Given the description of an element on the screen output the (x, y) to click on. 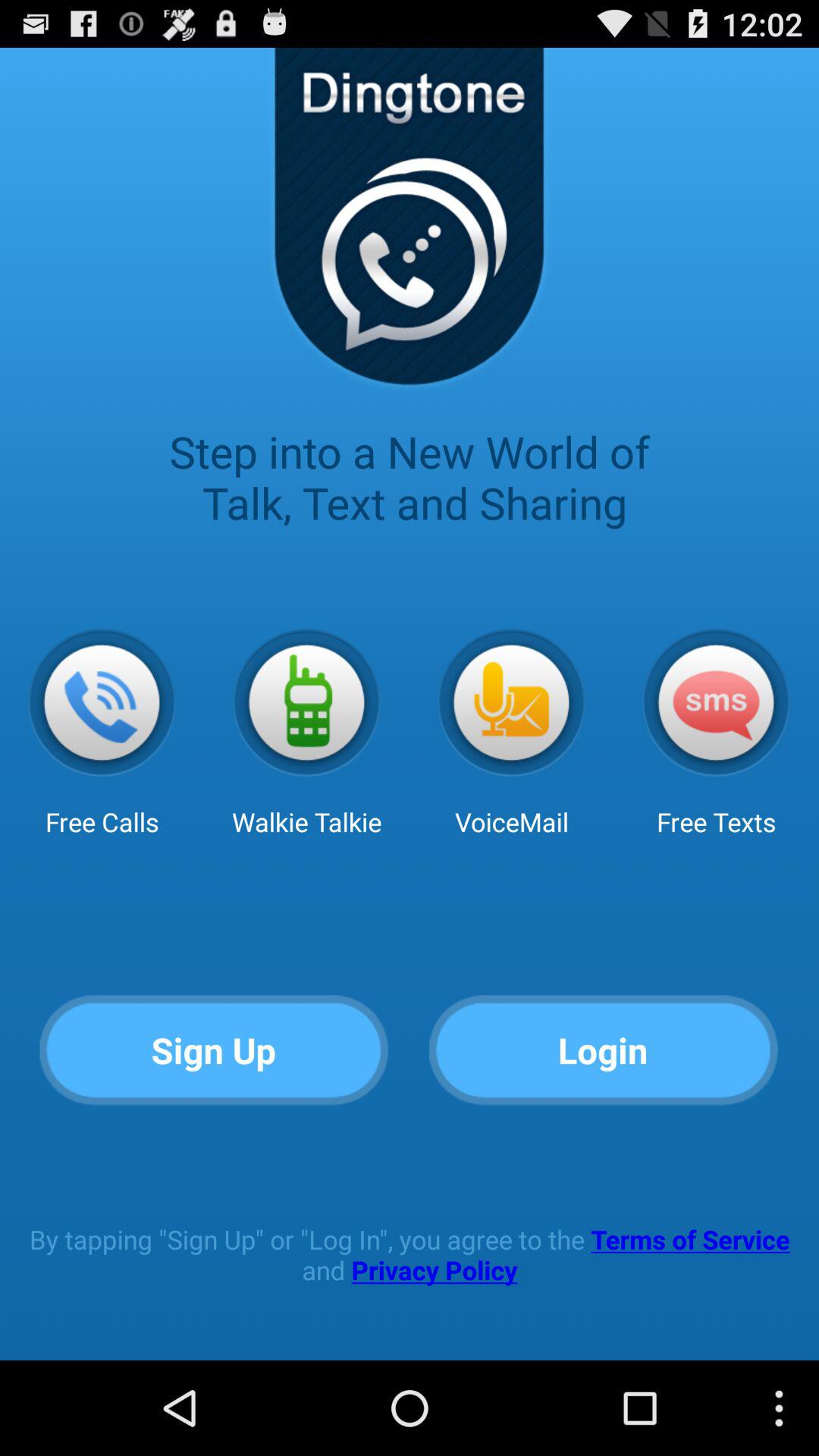
choose icon at the bottom right corner (604, 1050)
